Given the description of an element on the screen output the (x, y) to click on. 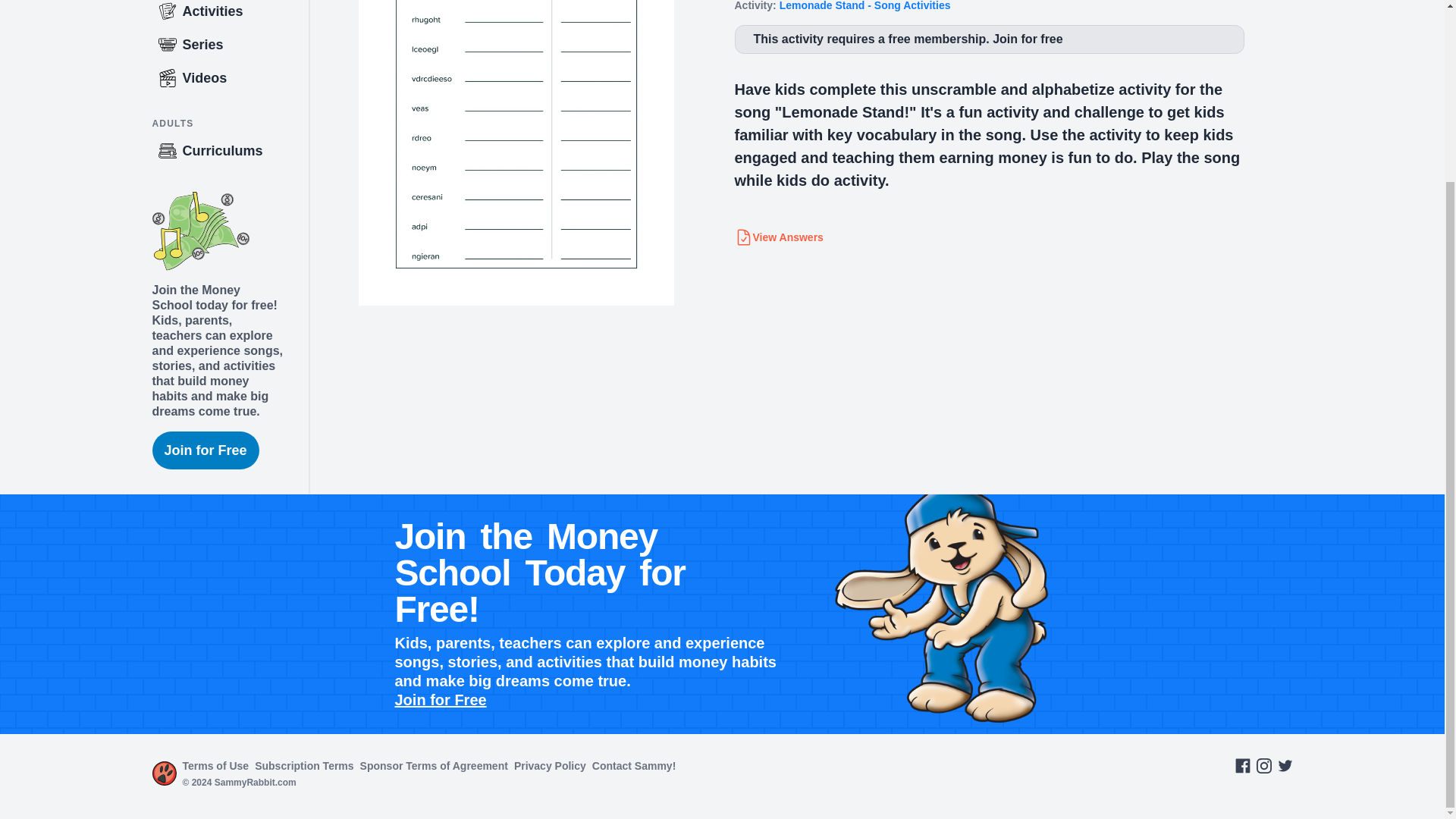
Sponsor Terms of Agreement (433, 765)
Activities (229, 13)
Curriculums (229, 150)
Privacy Policy (549, 765)
Lemonade Stand - Song Activities (864, 5)
Subscription Terms (303, 765)
Series (229, 44)
Videos (229, 78)
View Answers (777, 237)
Join for free (1027, 38)
Join for Free (440, 699)
Contact Sammy! (633, 765)
Join for Free (205, 450)
Terms of Use (215, 765)
